Given the description of an element on the screen output the (x, y) to click on. 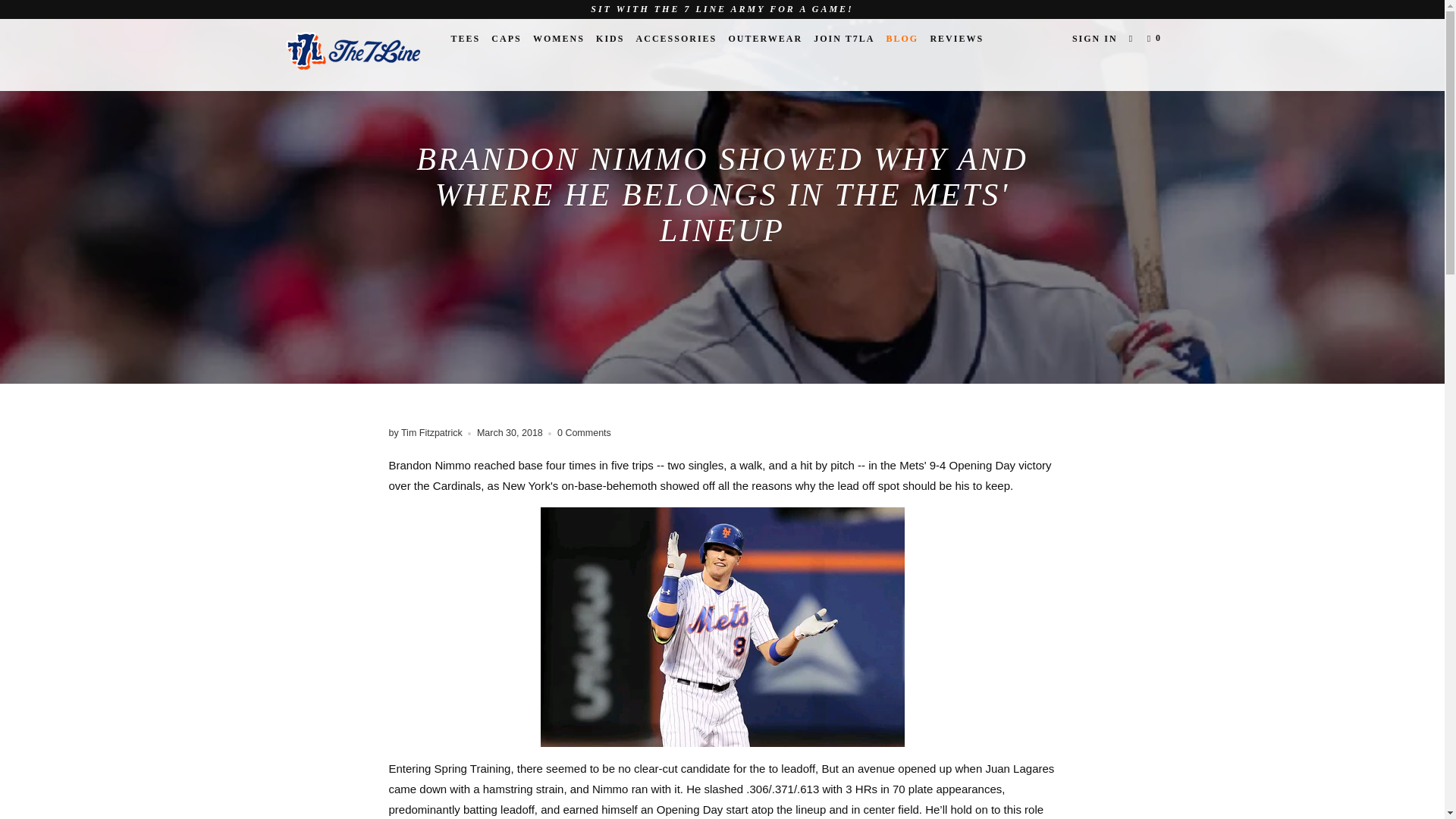
REVIEWS (956, 38)
BLOG (902, 38)
My Account  (1094, 38)
JOIN T7LA (843, 38)
OUTERWEAR (765, 38)
The 7 Line (352, 54)
0 (1155, 38)
TEES (464, 38)
CAPS (505, 38)
SIGN IN (1094, 38)
